Given the description of an element on the screen output the (x, y) to click on. 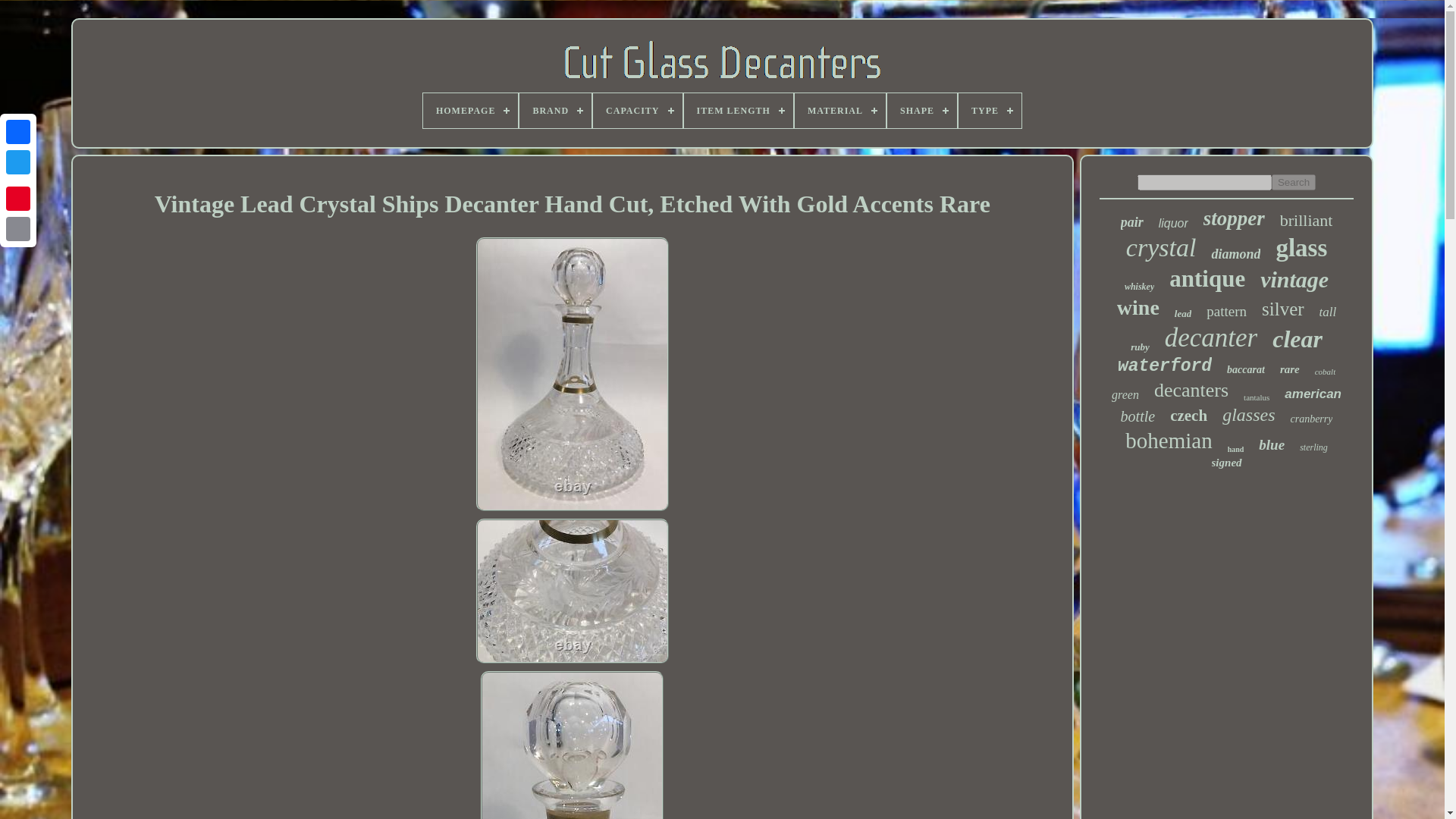
HOMEPAGE (470, 110)
Search (1293, 182)
BRAND (555, 110)
CAPACITY (636, 110)
